Given the description of an element on the screen output the (x, y) to click on. 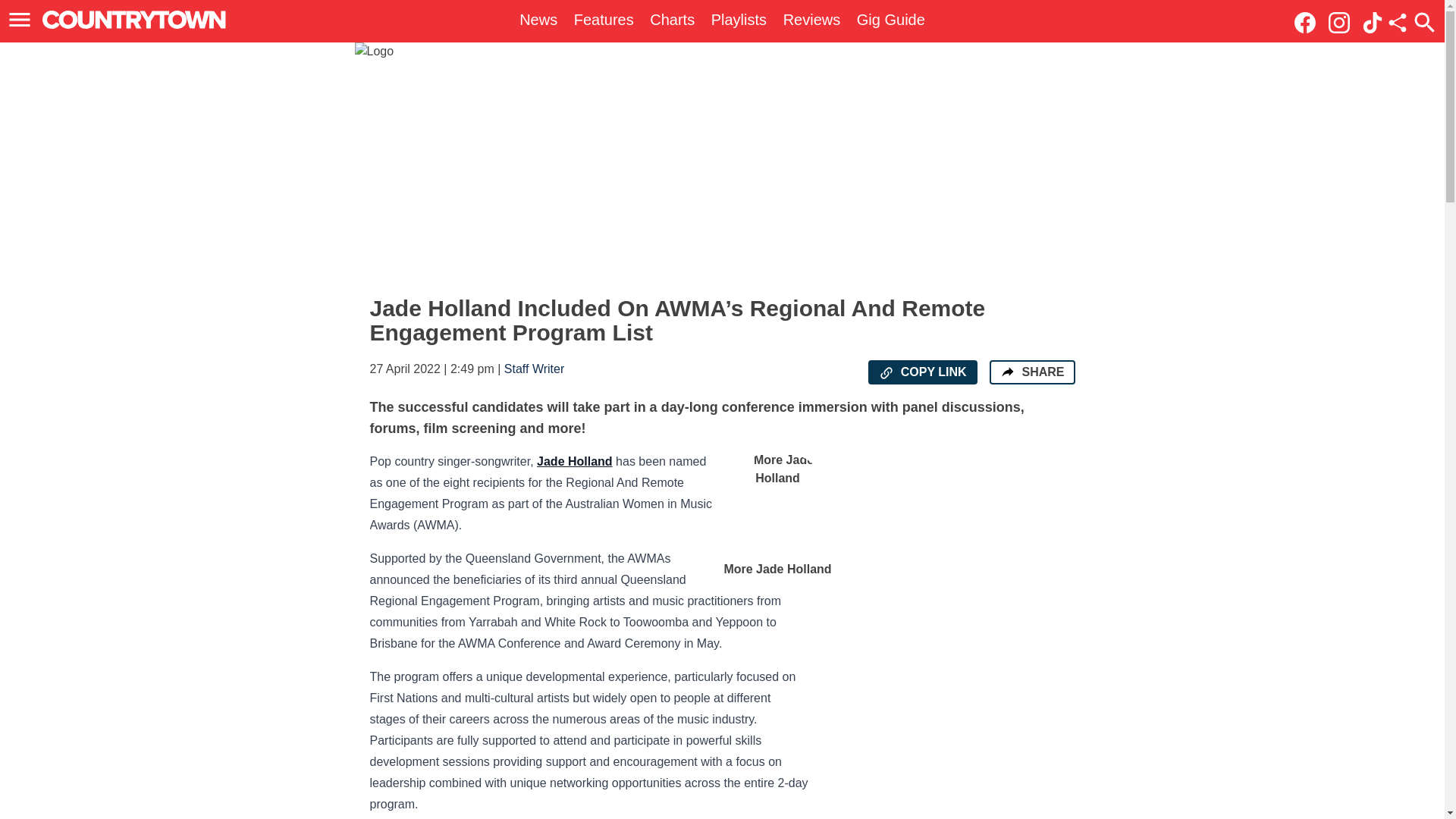
Features (603, 19)
Link to our TikTok (1372, 21)
Link to our Instagram (1342, 21)
Copy the page URL COPY LINK (921, 372)
Link to our Facebook (1309, 21)
Charts (671, 19)
Open the site search menu (1424, 22)
Open the main menu (19, 19)
Open the main menu (22, 19)
News (538, 19)
Open the site search menu (1424, 22)
Playlists (739, 19)
Share the page SHARE (1032, 372)
Share the page (1007, 371)
Share this page (1397, 22)
